Given the description of an element on the screen output the (x, y) to click on. 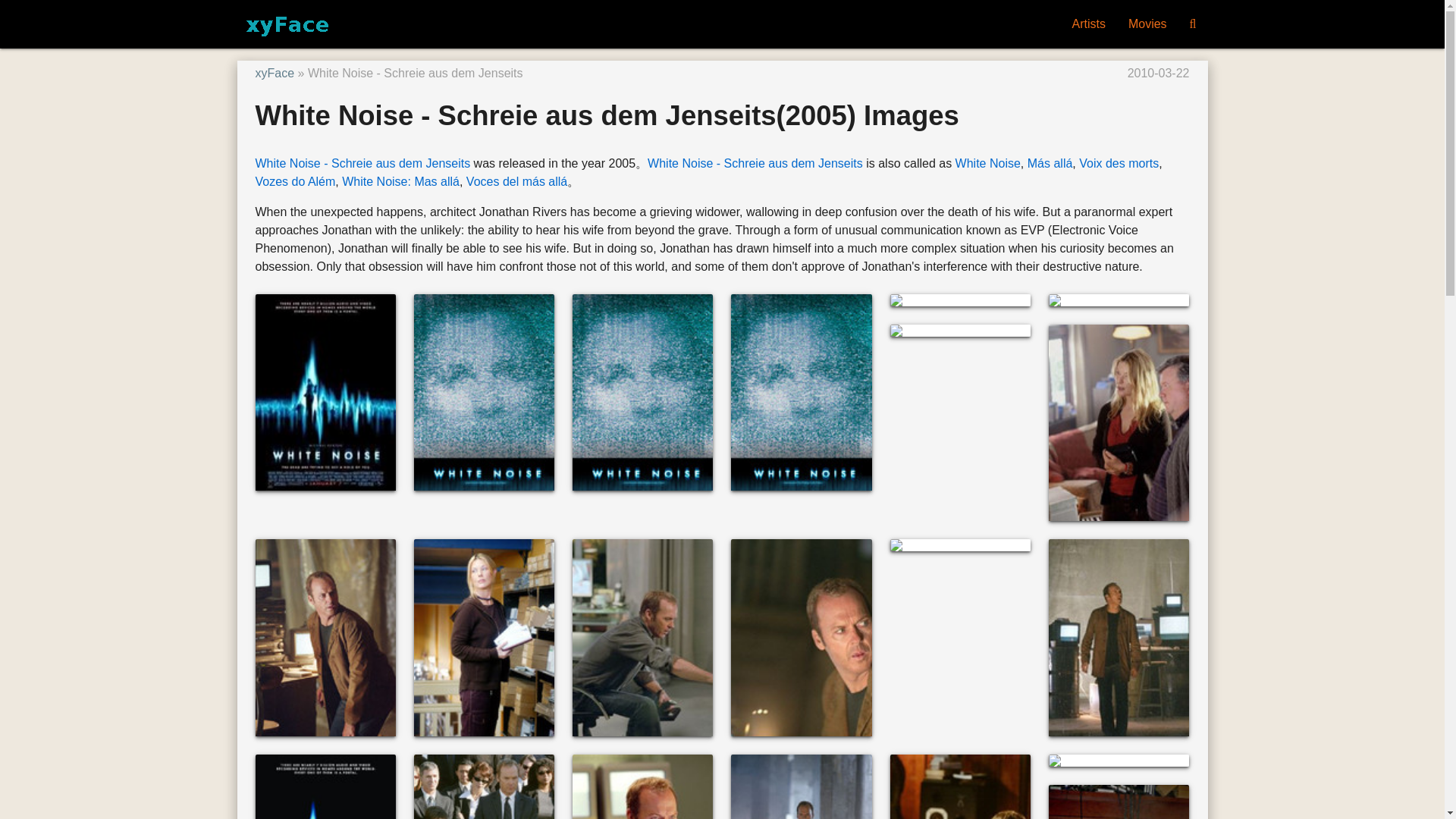
White Noise (987, 163)
Voix des morts (1118, 163)
Movies (1146, 24)
White Noise - Schreie aus dem Jenseits (755, 163)
xyFace (274, 72)
White Noise - Schreie aus dem Jenseits (362, 163)
Artists (1087, 24)
